Given the description of an element on the screen output the (x, y) to click on. 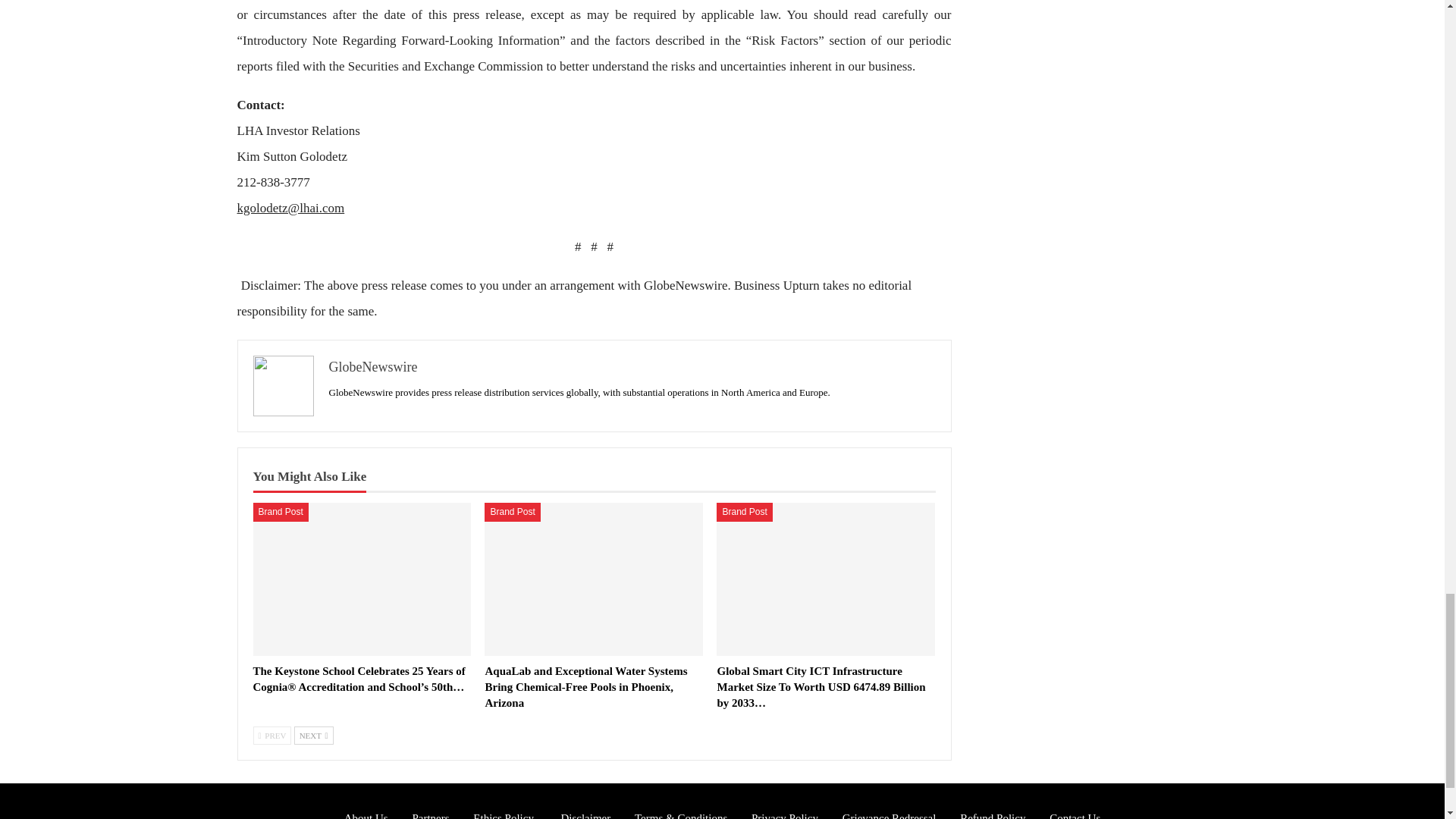
Next (313, 735)
Previous (272, 735)
